Given the description of an element on the screen output the (x, y) to click on. 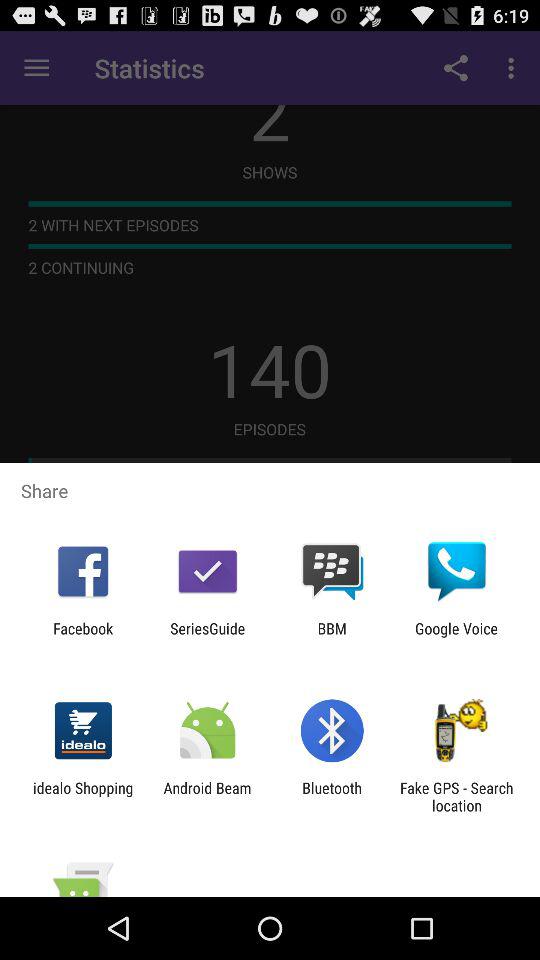
scroll to the facebook app (83, 637)
